Given the description of an element on the screen output the (x, y) to click on. 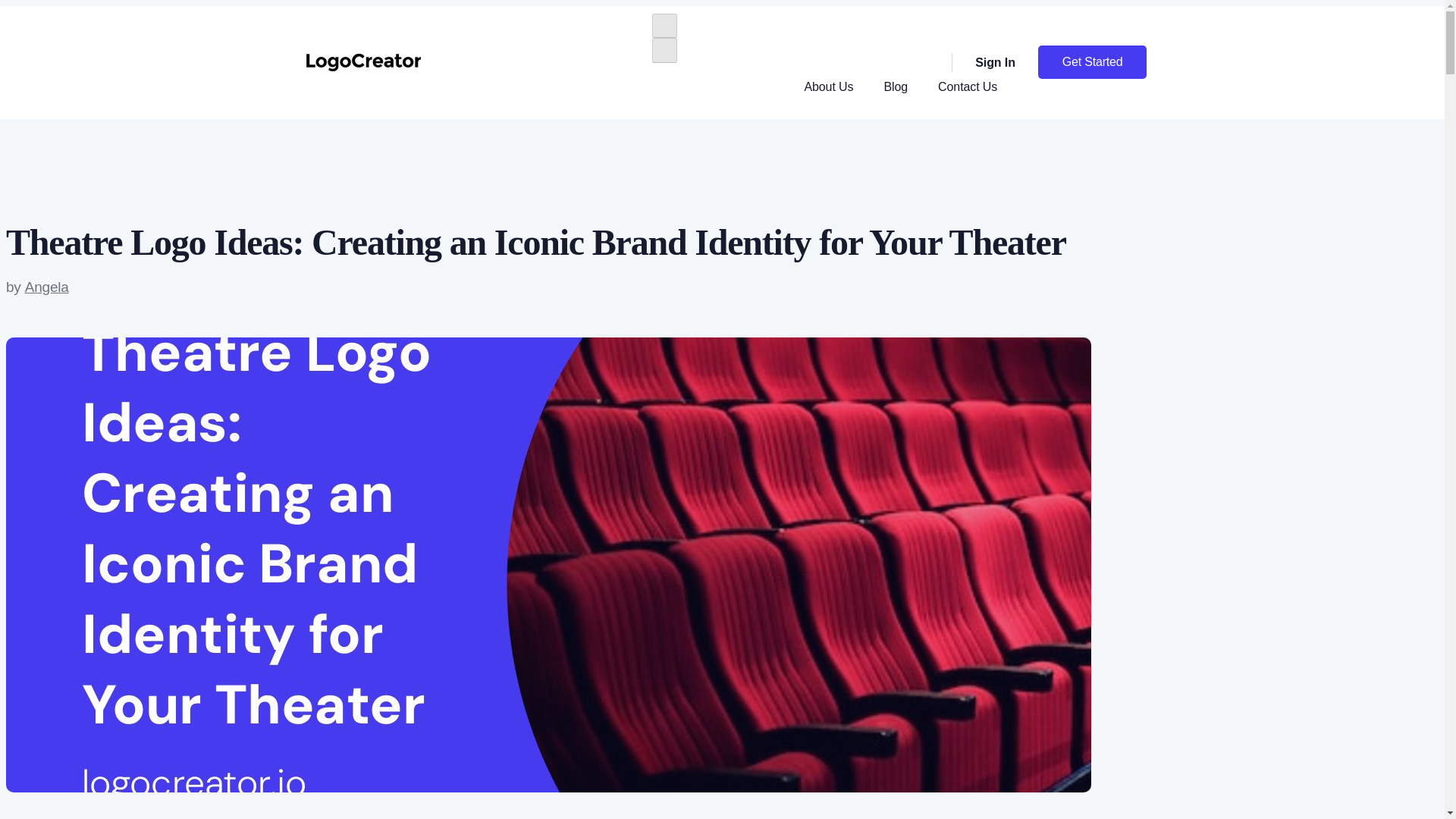
Contact Us (967, 87)
About Us (830, 87)
Get Started (1092, 61)
Sign In (983, 62)
Blog (896, 87)
